Given the description of an element on the screen output the (x, y) to click on. 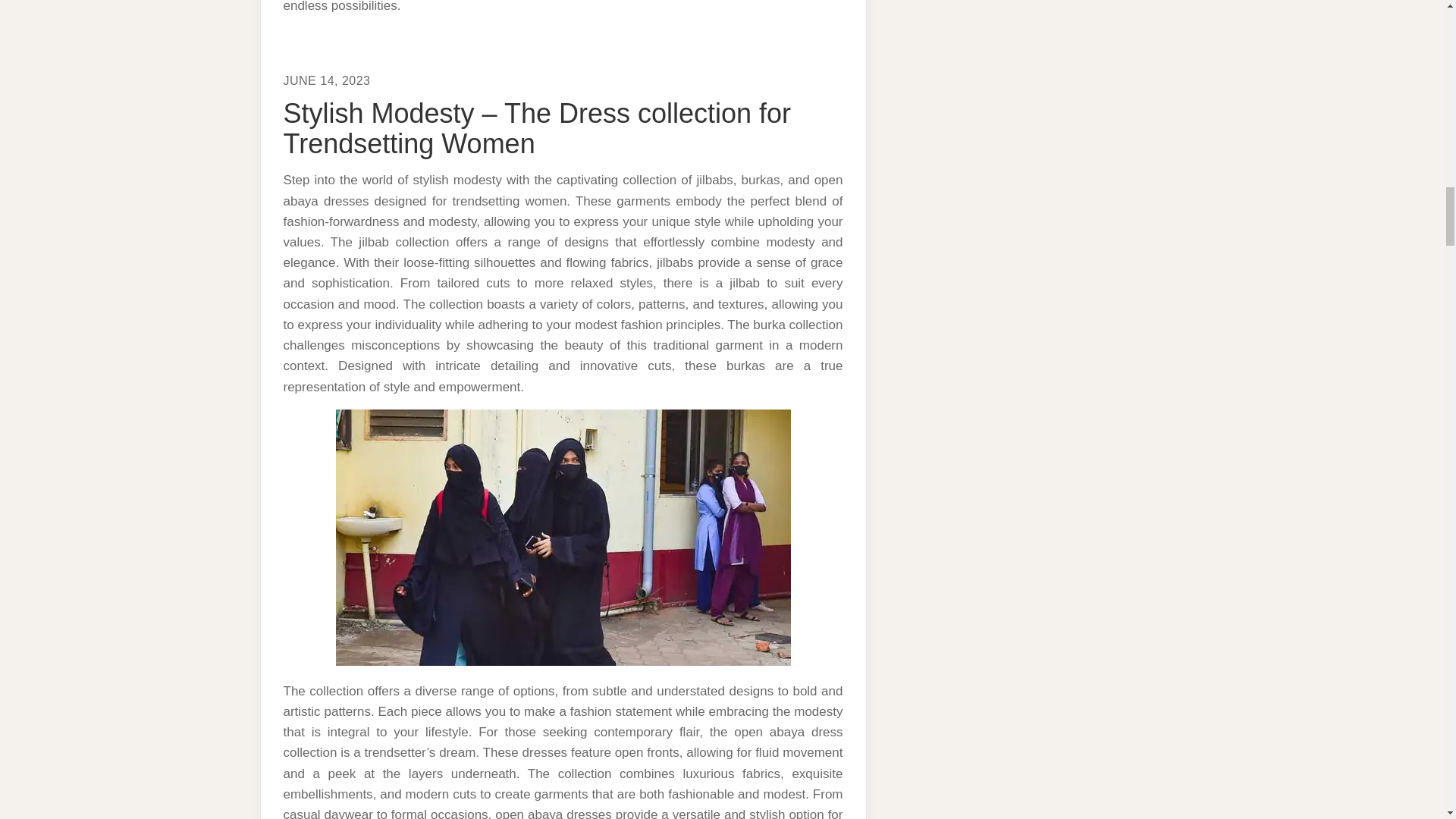
JUNE 14, 2023 (327, 80)
